Given the description of an element on the screen output the (x, y) to click on. 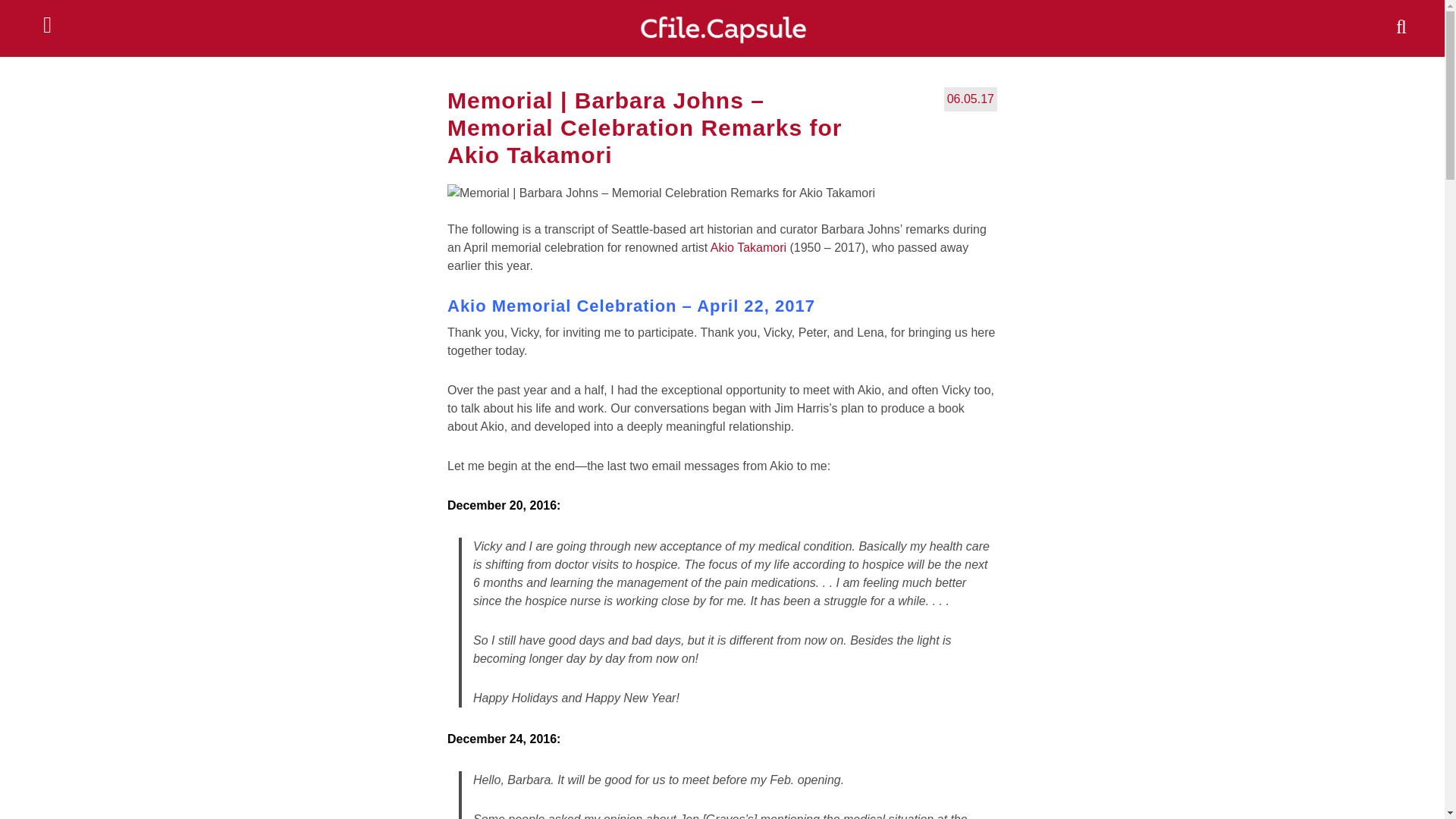
Akio Takamori (748, 246)
Go (16, 10)
